Given the description of an element on the screen output the (x, y) to click on. 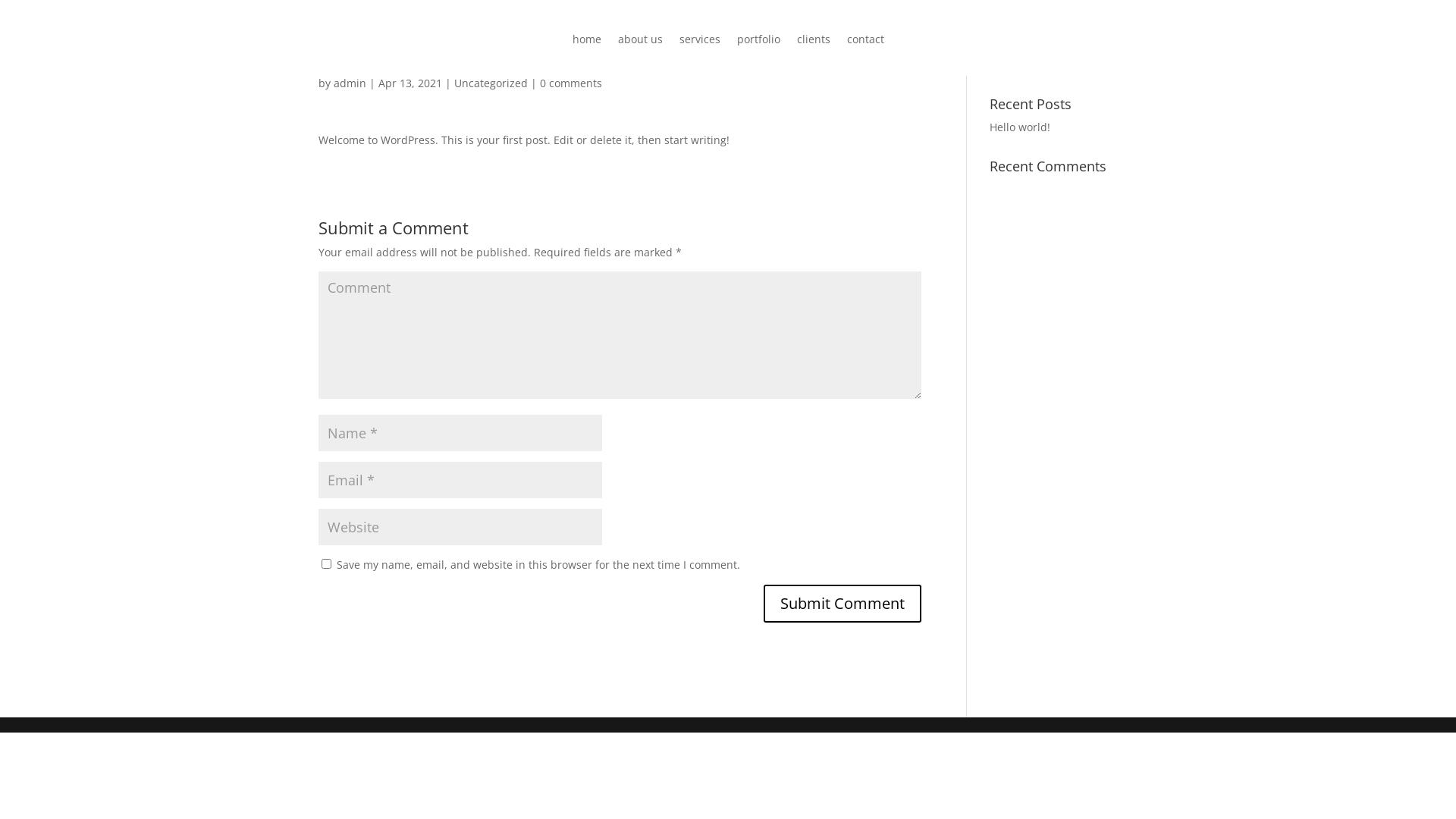
services Element type: text (699, 42)
home Element type: text (585, 42)
Submit Comment Element type: text (842, 603)
Hello world! Element type: text (1019, 126)
0 comments Element type: text (570, 82)
Uncategorized Element type: text (490, 82)
portfolio Element type: text (758, 42)
contact Element type: text (864, 42)
admin Element type: text (349, 82)
clients Element type: text (812, 42)
Search Element type: text (1110, 58)
about us Element type: text (639, 42)
